Given the description of an element on the screen output the (x, y) to click on. 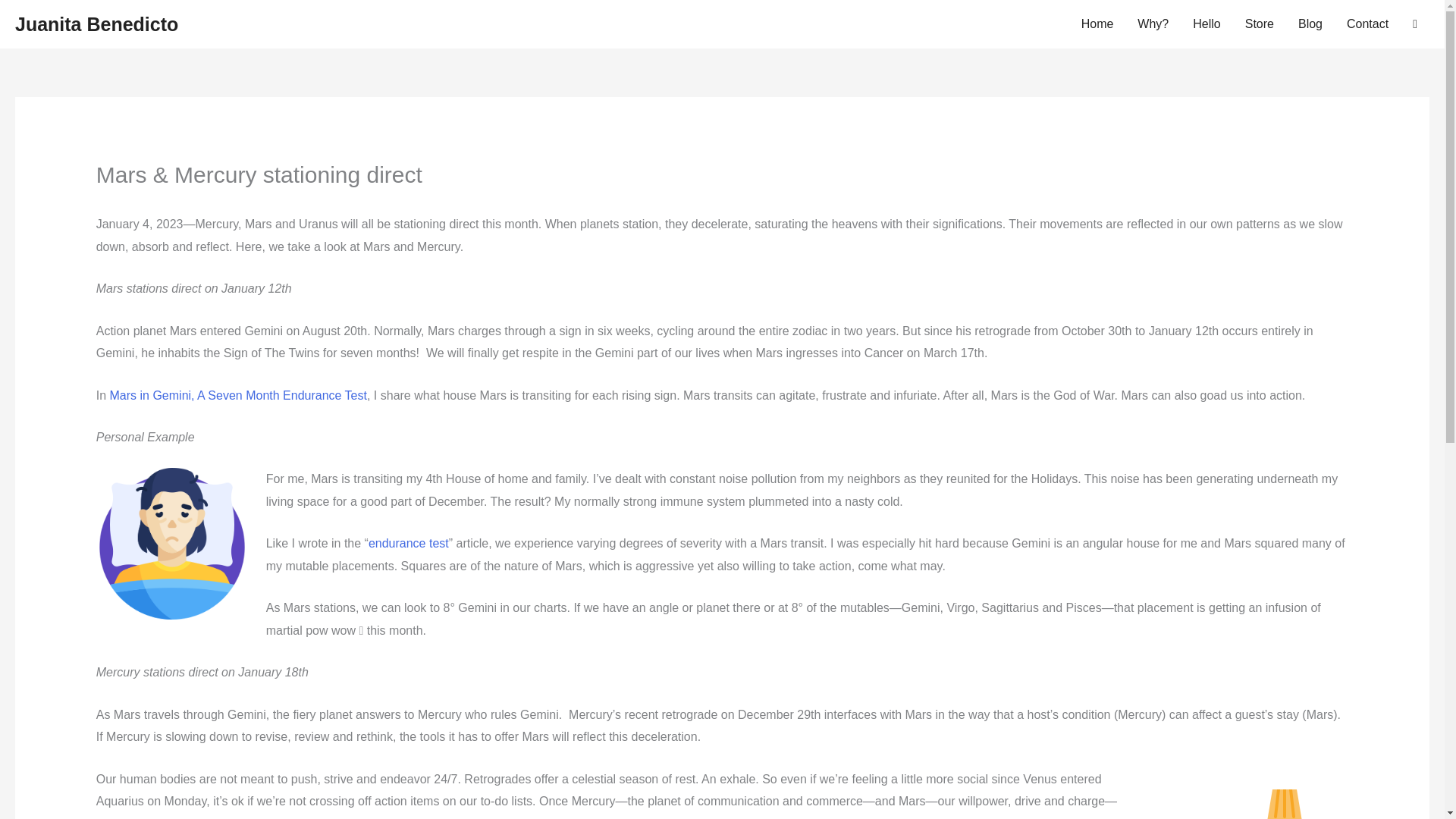
Mars in Gemini, A Seven Month Endurance Test (238, 395)
Store (1259, 24)
Hello (1205, 24)
Contact (1367, 24)
Why? (1152, 24)
Blog (1310, 24)
Juanita Benedicto (95, 24)
endurance test (408, 543)
Home (1096, 24)
